Given the description of an element on the screen output the (x, y) to click on. 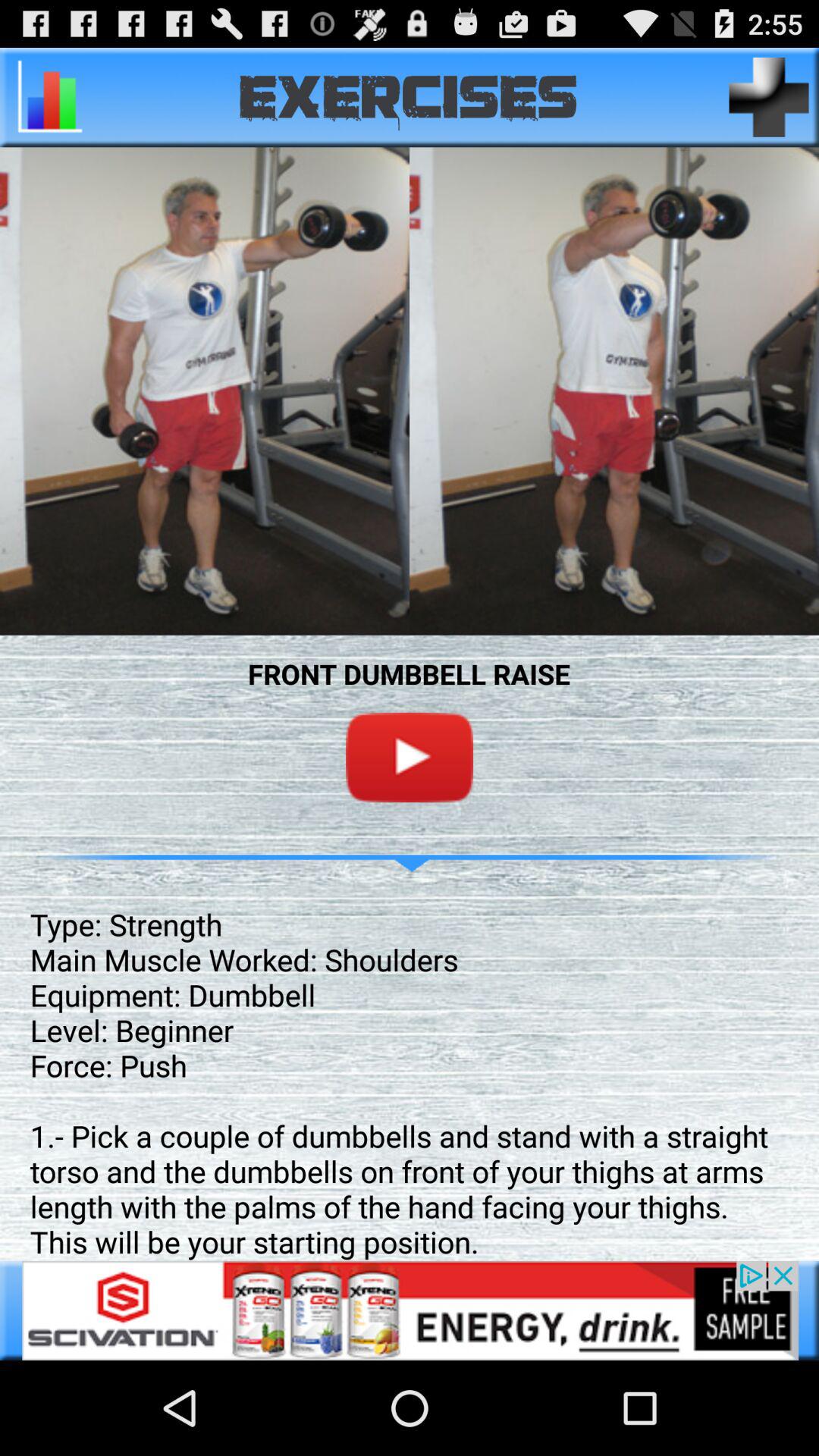
goes to advertiser 's website (409, 1310)
